Given the description of an element on the screen output the (x, y) to click on. 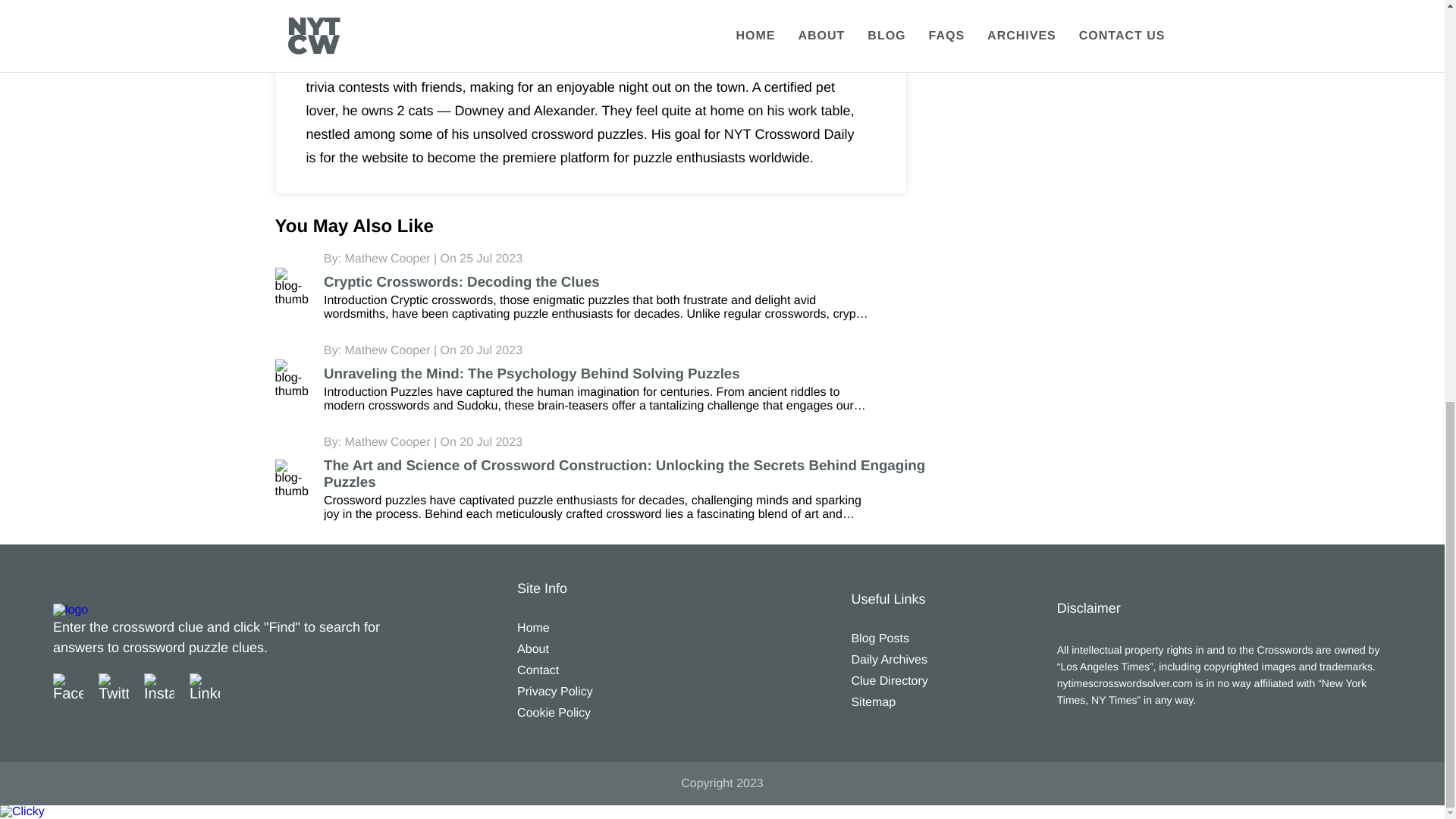
Privacy-friendly Web Analytics (22, 811)
